Given the description of an element on the screen output the (x, y) to click on. 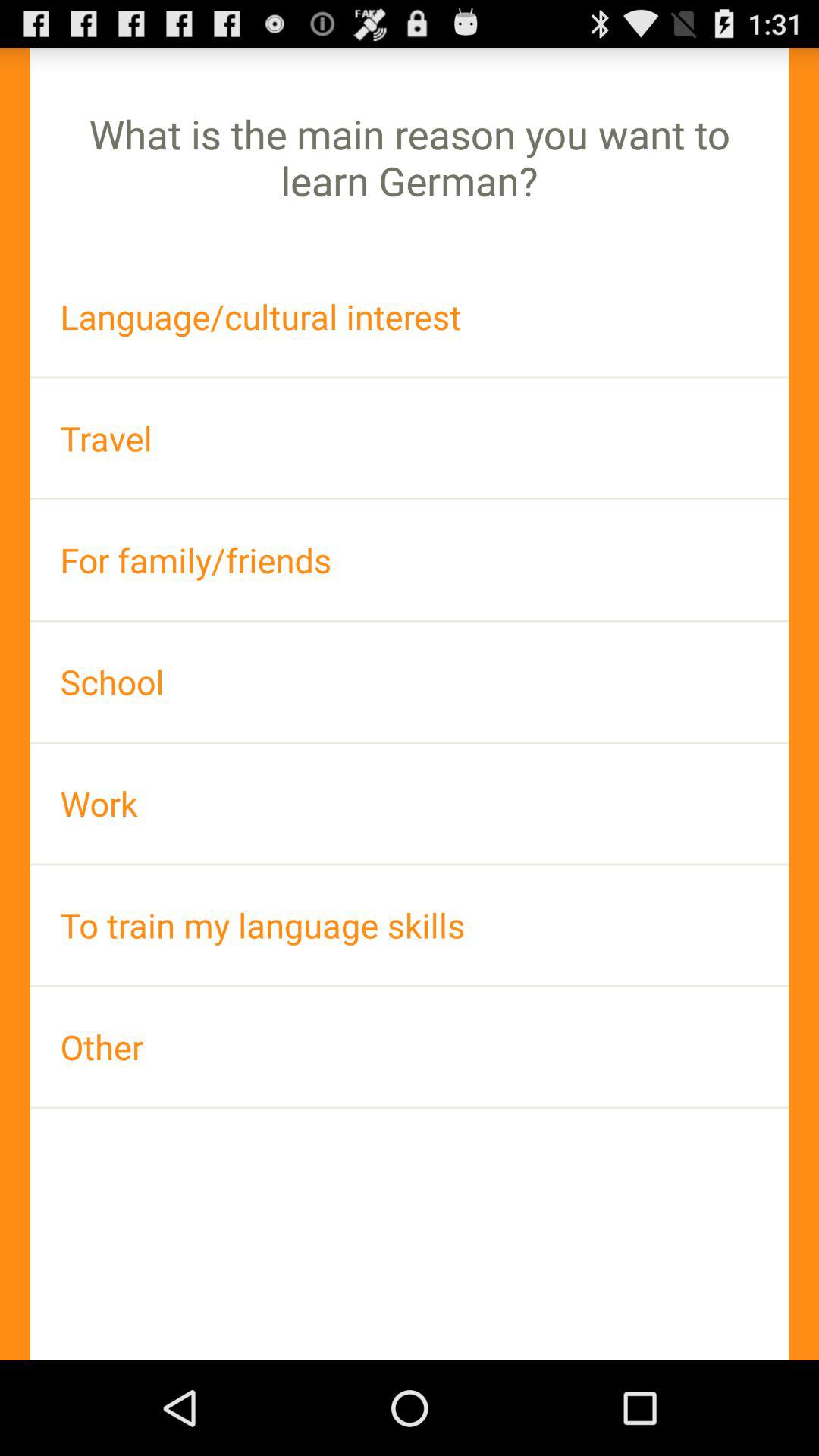
flip until travel app (409, 438)
